Given the description of an element on the screen output the (x, y) to click on. 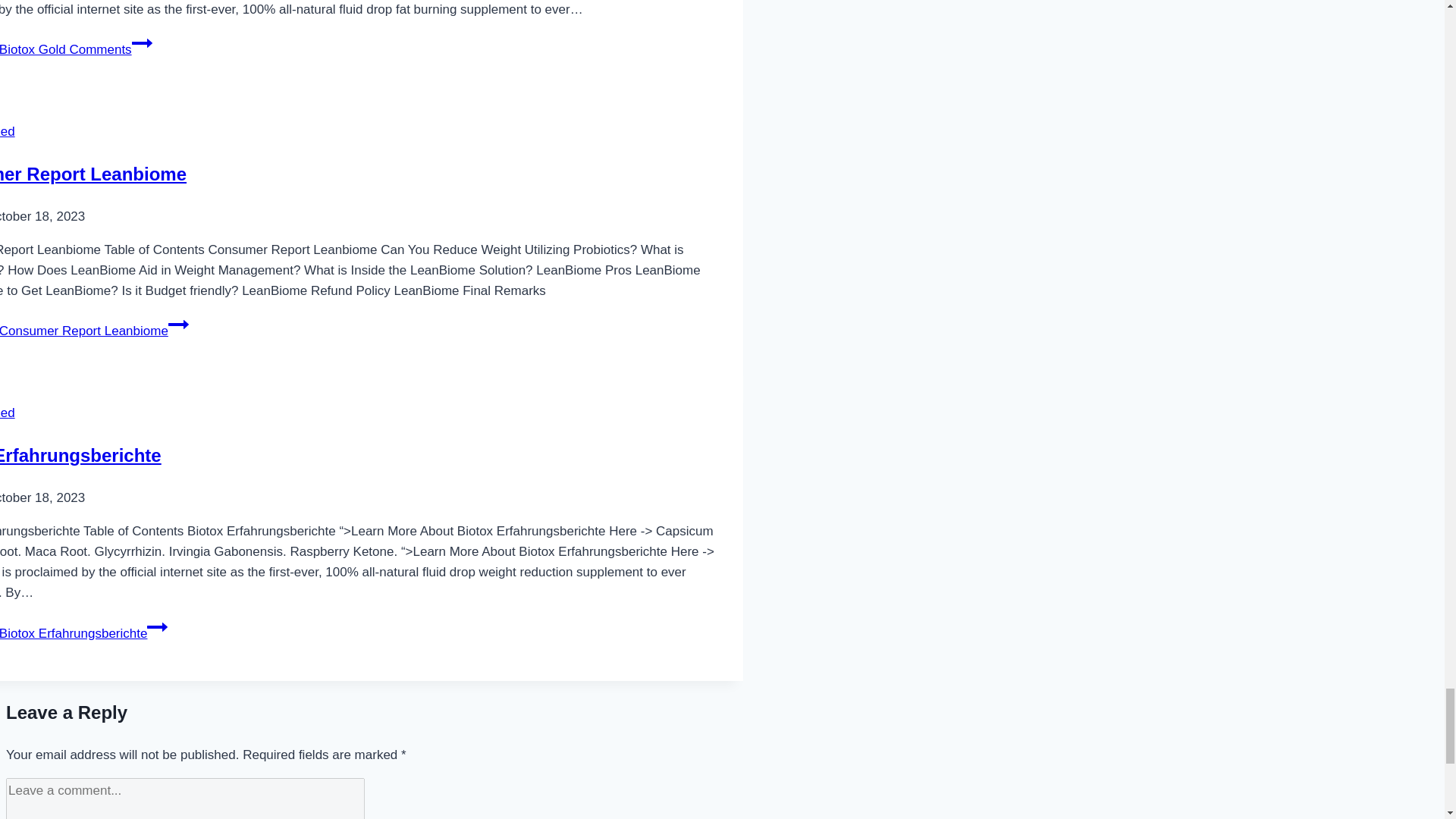
Continue (142, 43)
Continue (157, 627)
Continue (178, 323)
